Given the description of an element on the screen output the (x, y) to click on. 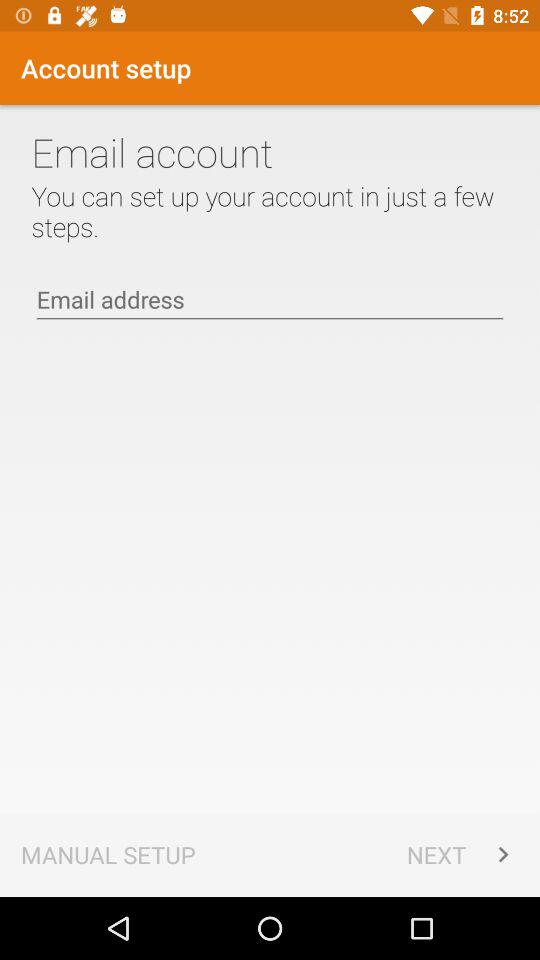
flip until the next (462, 854)
